Given the description of an element on the screen output the (x, y) to click on. 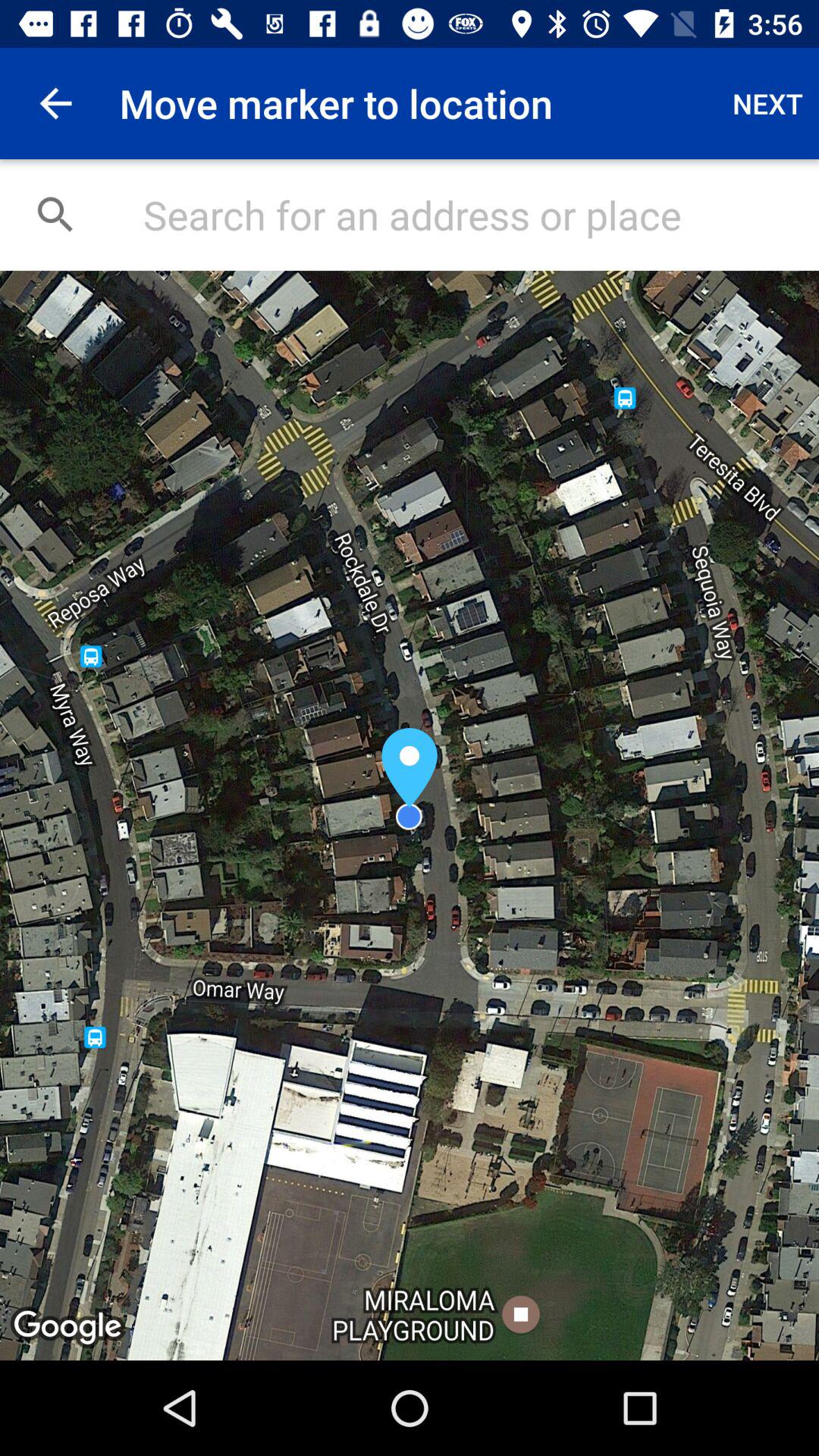
enter search location (465, 214)
